Given the description of an element on the screen output the (x, y) to click on. 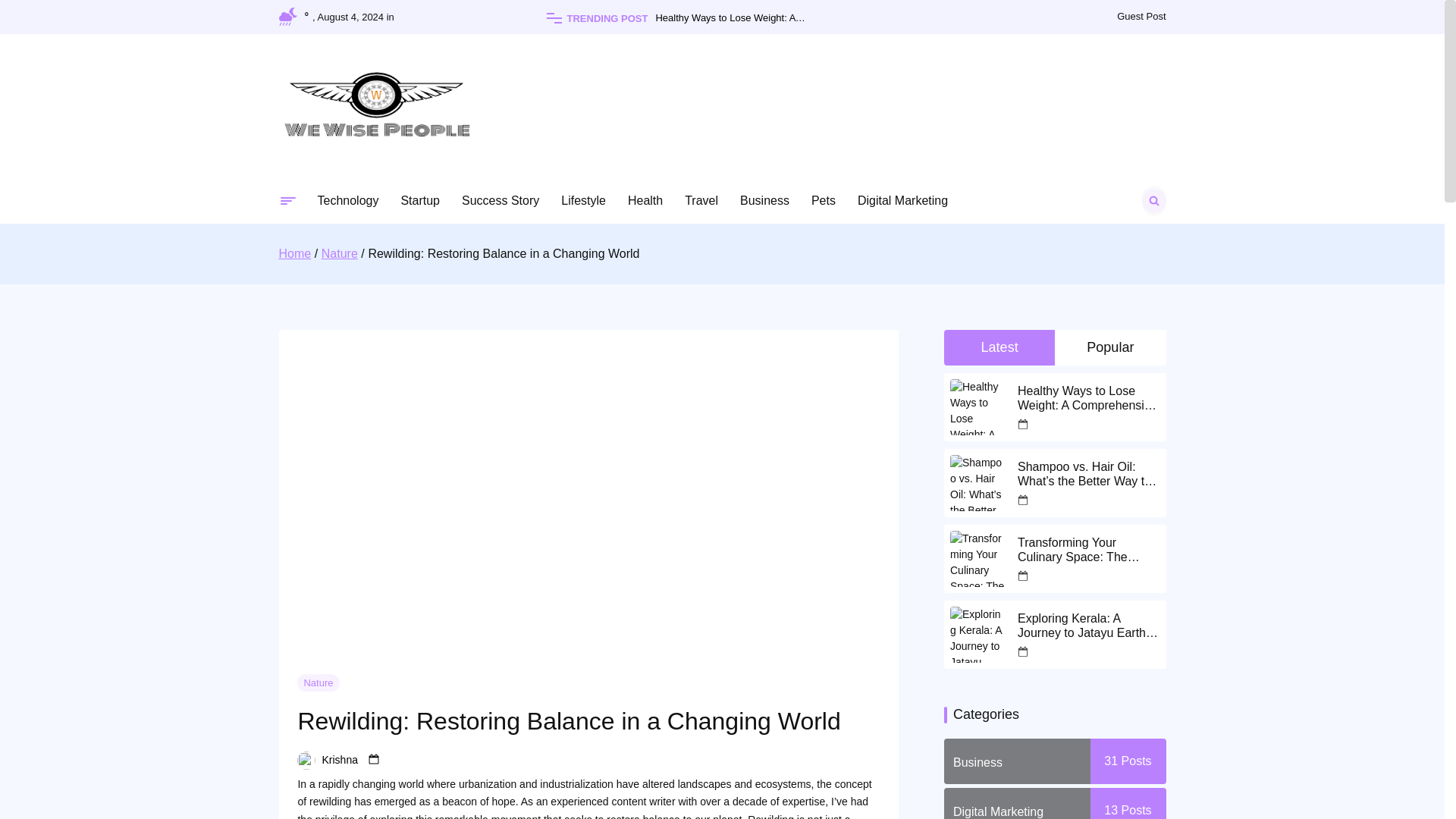
Technology (347, 200)
Healthy Ways to Lose Weight: A Comprehensive Guide (756, 18)
Guest Post (1141, 16)
Lifestyle (583, 200)
Success Story (500, 200)
Business (764, 200)
Startup (419, 200)
